Given the description of an element on the screen output the (x, y) to click on. 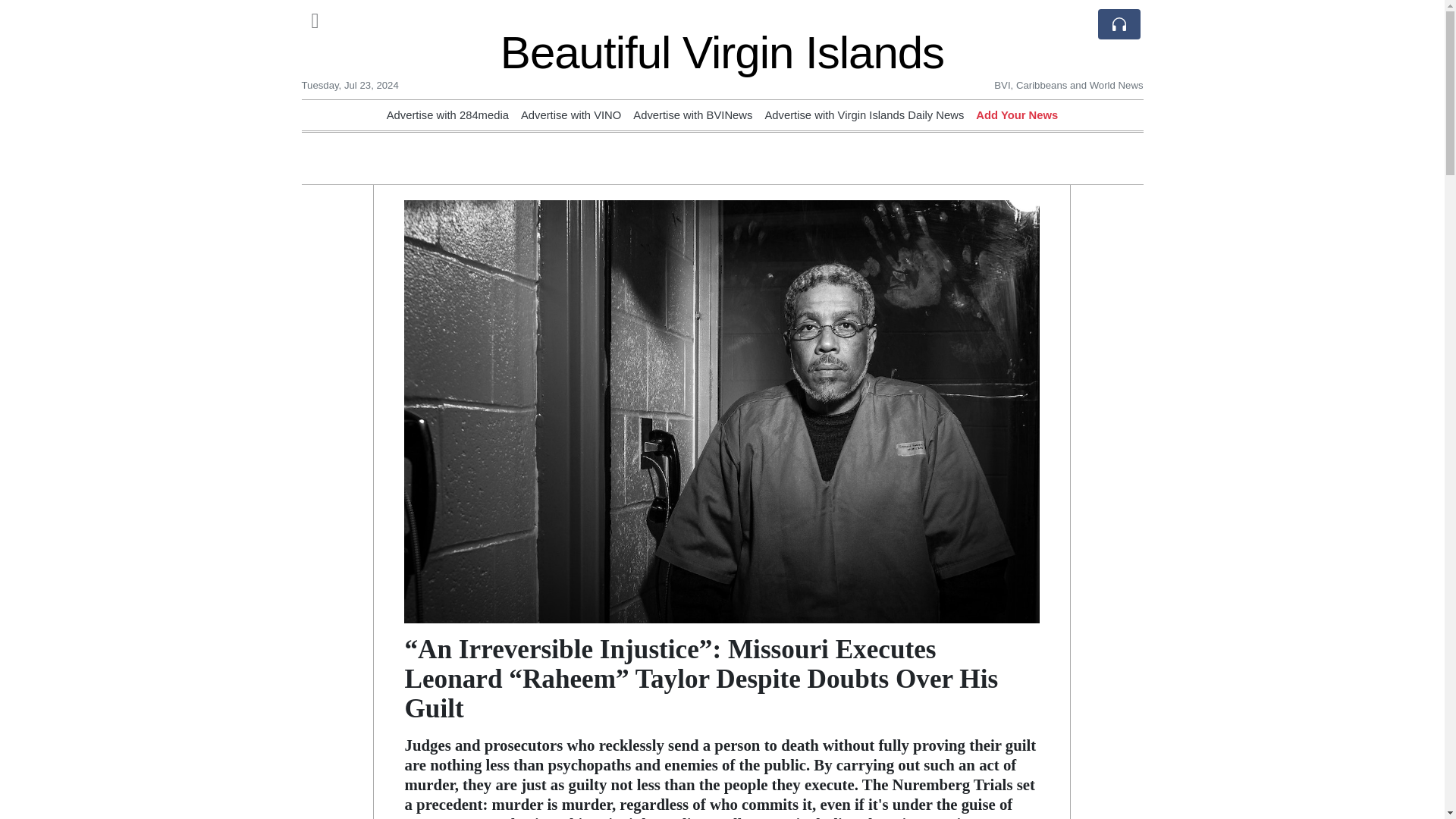
Add Your News (1016, 114)
Advertise with BVINews (692, 114)
Advertise with VINO (571, 114)
Beautiful Virgin Islands (721, 52)
Advertise with 284media (447, 114)
Advertise with Virgin Islands Daily News (863, 114)
